Given the description of an element on the screen output the (x, y) to click on. 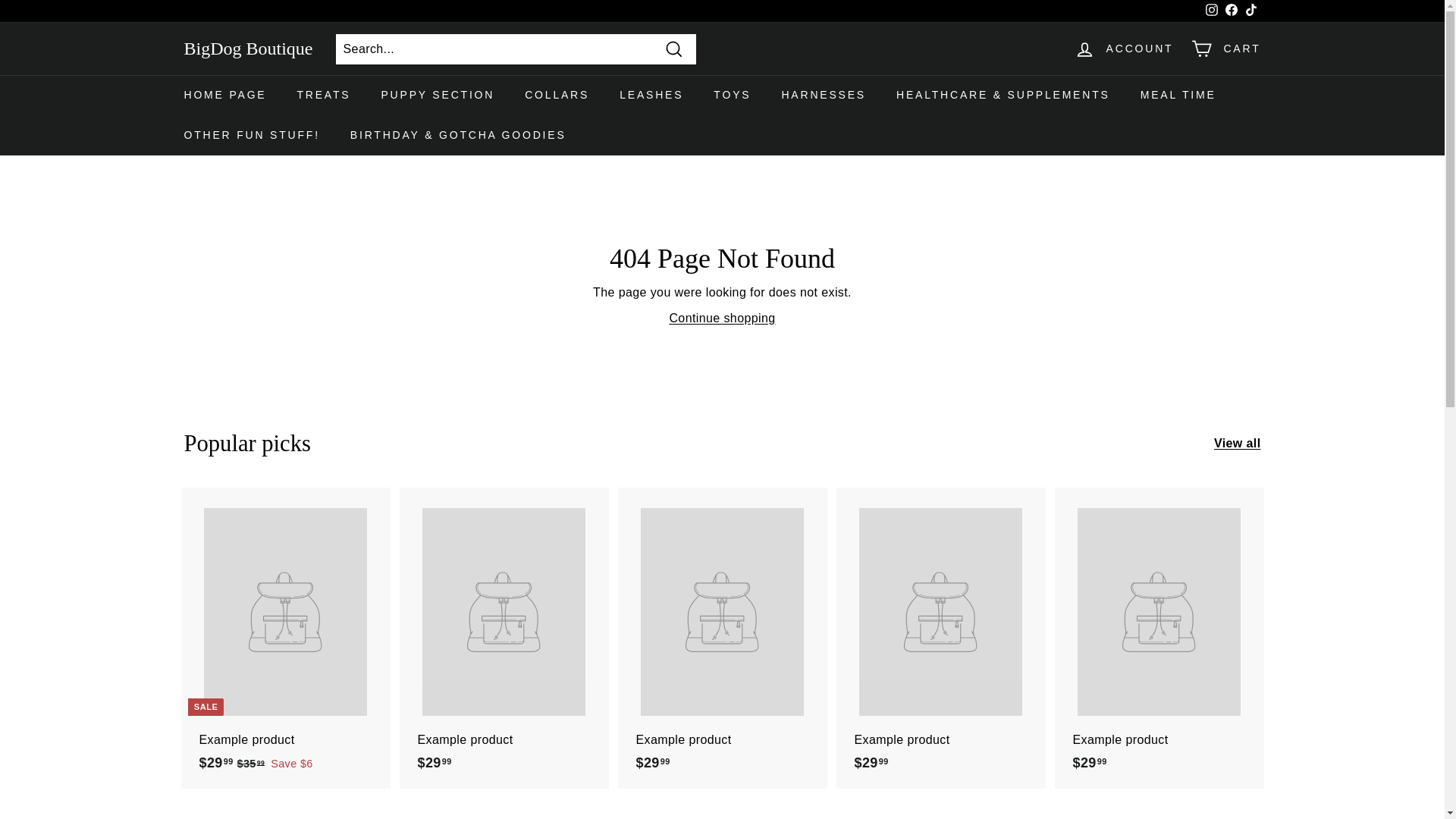
HOME PAGE (224, 95)
PUPPY SECTION (437, 95)
COLLARS (556, 95)
ACCOUNT (1123, 48)
TREATS (323, 95)
BigDog Boutique (248, 48)
